Given the description of an element on the screen output the (x, y) to click on. 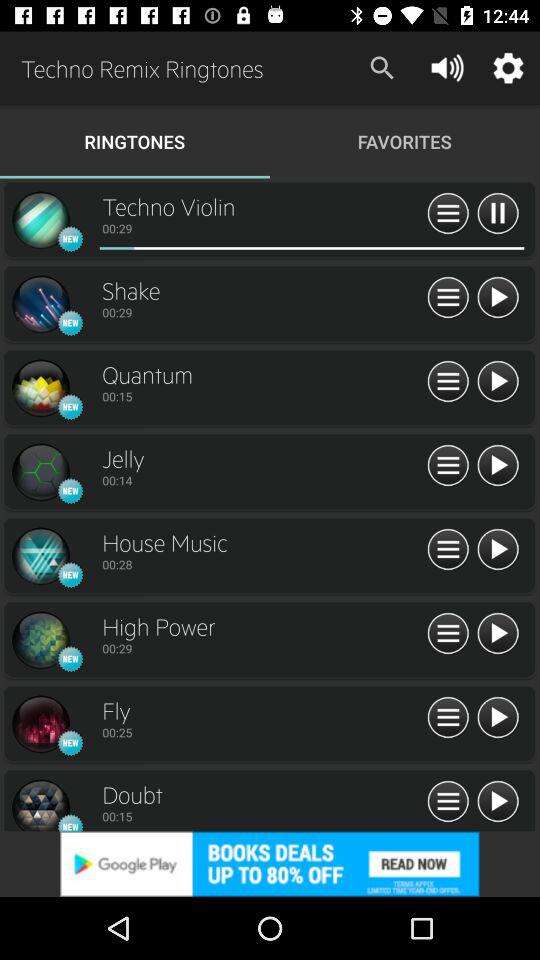
start (497, 717)
